Given the description of an element on the screen output the (x, y) to click on. 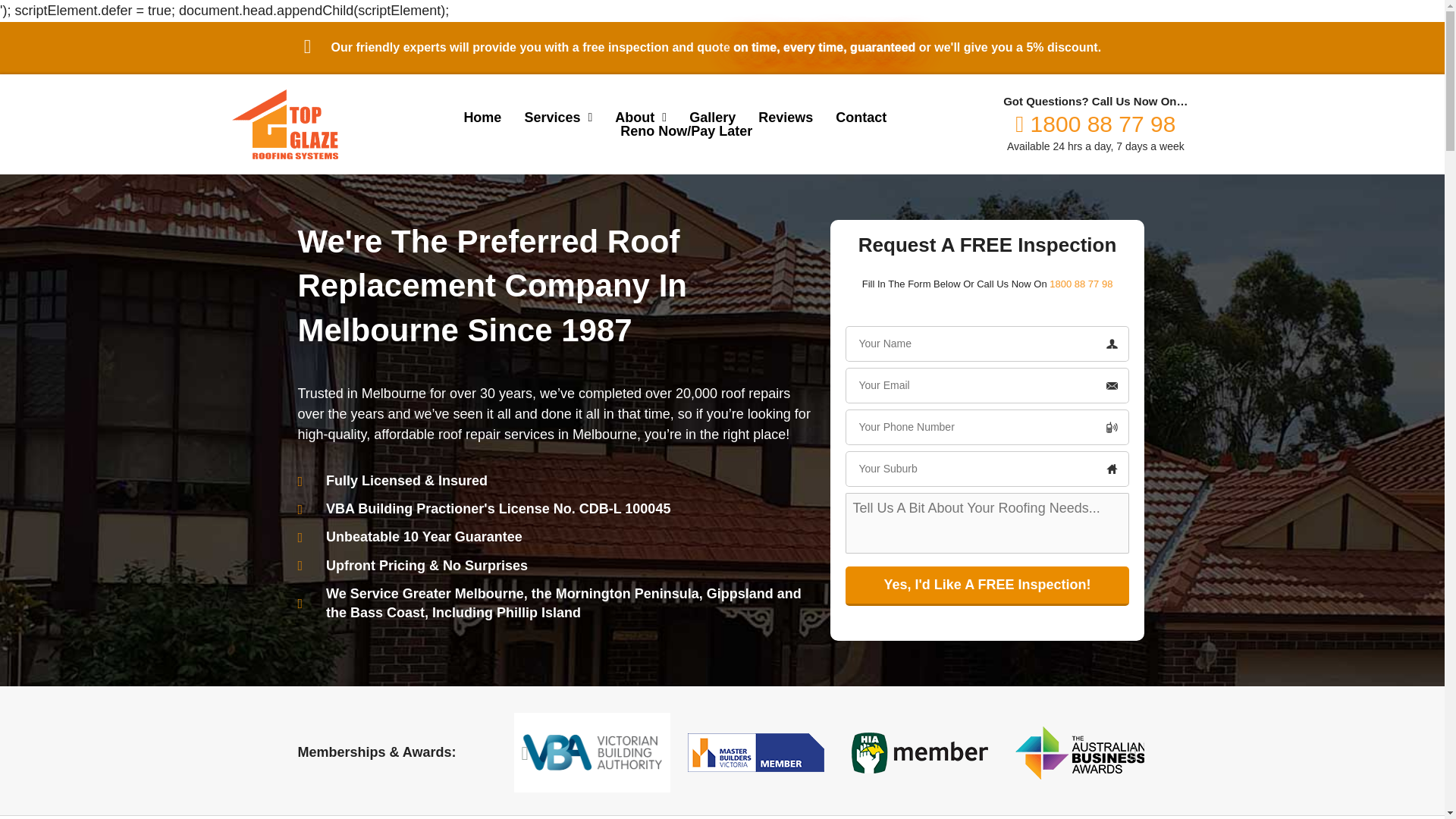
Gallery (711, 117)
About (640, 117)
Reviews (785, 117)
Home (481, 117)
Service (558, 117)
Reviews (785, 117)
Gallery (711, 117)
Services (558, 117)
Yes, I'd Like A FREE Inspection! (986, 586)
About (640, 117)
